Given the description of an element on the screen output the (x, y) to click on. 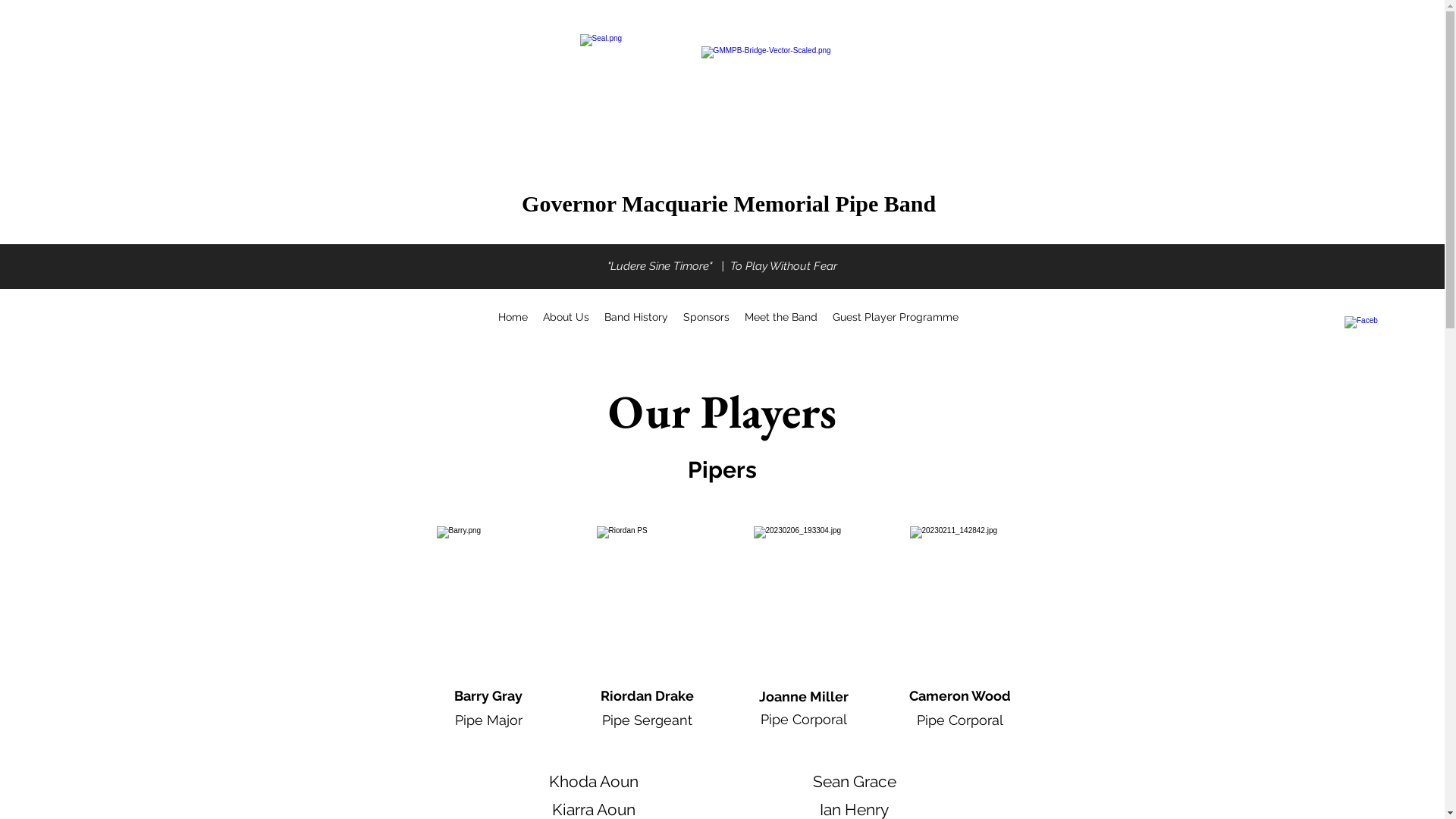
Home Element type: text (512, 316)
Band History Element type: text (635, 316)
About Us Element type: text (565, 316)
Sponsors Element type: text (706, 316)
Guest Player Programme Element type: text (895, 316)
